Given the description of an element on the screen output the (x, y) to click on. 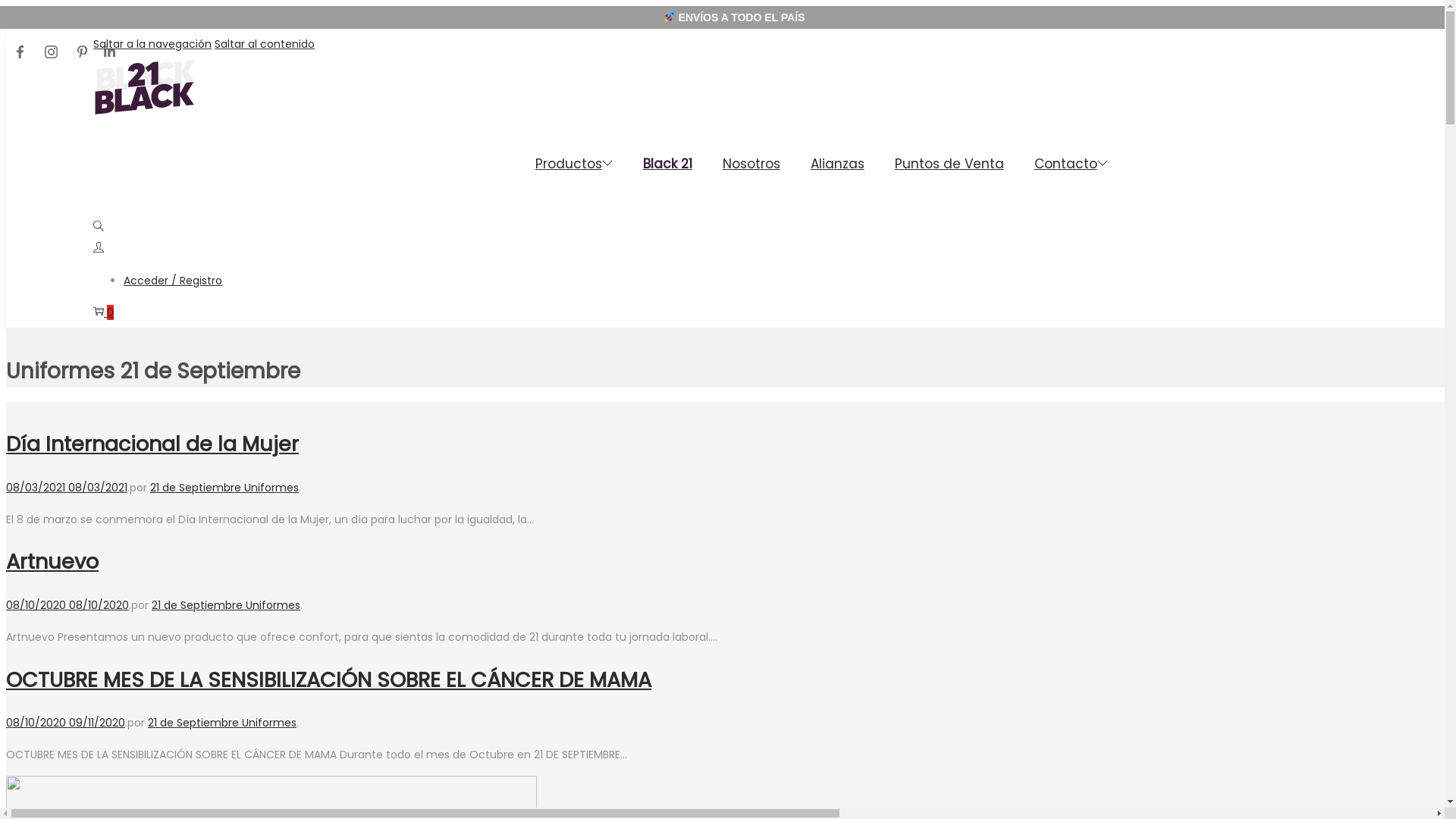
21 de Septiembre Uniformes Element type: text (224, 487)
Nosotros Element type: text (751, 163)
image/svg+xml 0 Element type: text (103, 312)
Alianzas Element type: text (837, 163)
21 de Septiembre Uniformes Element type: text (221, 722)
08/10/2020 08/10/2020 Element type: text (67, 604)
Productos Element type: text (573, 163)
21 de Septiembre Uniformes Element type: text (225, 604)
Contacto Element type: text (1070, 163)
Artnuevo Element type: text (52, 561)
Acceder / Registro Element type: text (172, 280)
Black 21 Element type: text (667, 163)
08/10/2020 09/11/2020 Element type: text (65, 722)
Puntos de Venta Element type: text (949, 163)
08/03/2021 08/03/2021 Element type: text (66, 487)
Saltar al contenido Element type: text (264, 43)
